Given the description of an element on the screen output the (x, y) to click on. 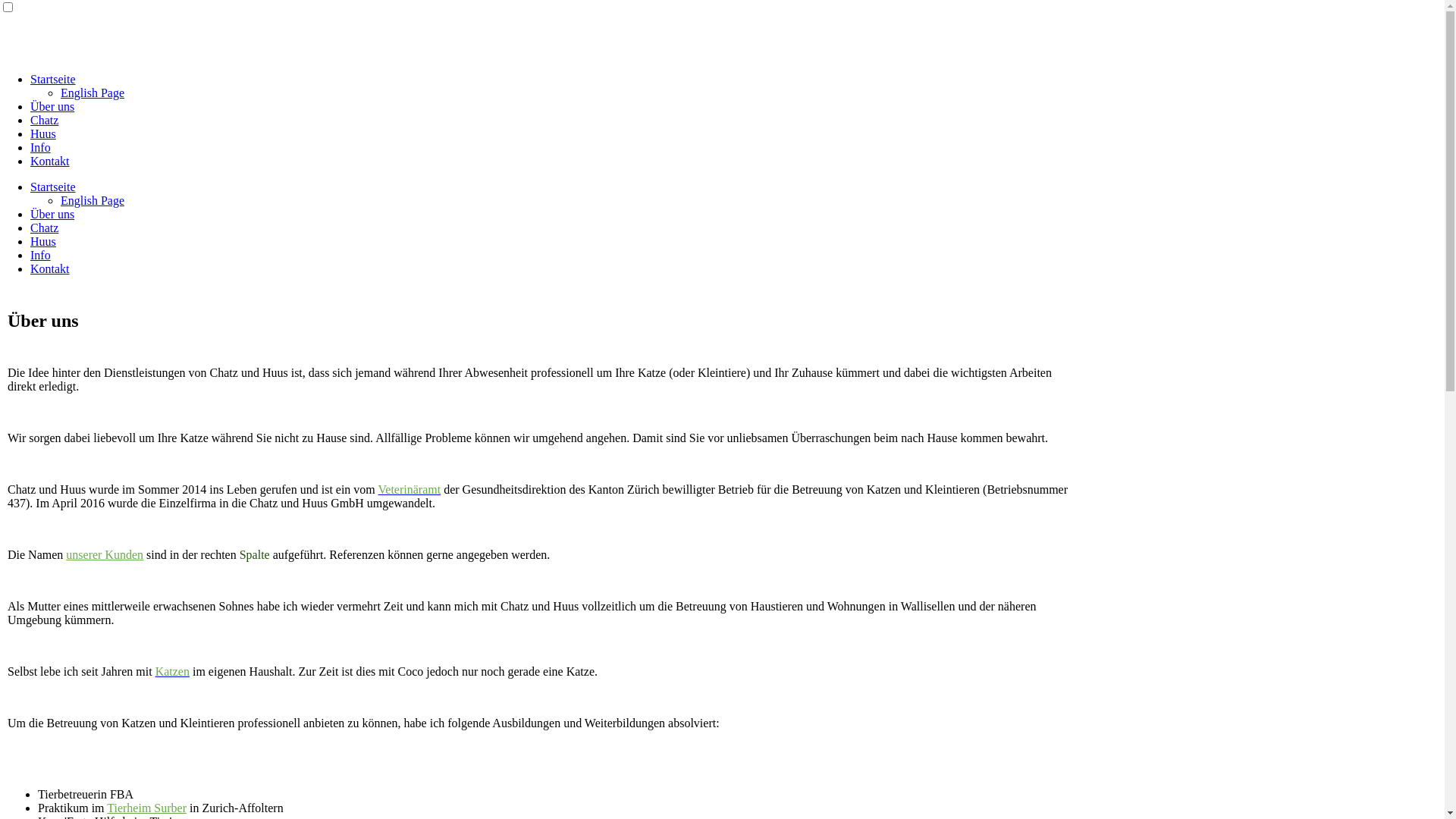
Chatz Element type: text (44, 119)
Info Element type: text (40, 147)
Tierheim Surber Element type: text (146, 807)
Huus Element type: text (43, 241)
unserer Kunden Element type: text (104, 554)
English Page Element type: text (92, 92)
Chatz Element type: text (44, 227)
Info Element type: text (40, 254)
Startseite Element type: text (52, 78)
Kontakt Element type: text (49, 160)
Huus Element type: text (43, 133)
Startseite Element type: text (52, 186)
English Page Element type: text (92, 200)
Katzen Element type: text (172, 671)
Kontakt Element type: text (49, 268)
